Given the description of an element on the screen output the (x, y) to click on. 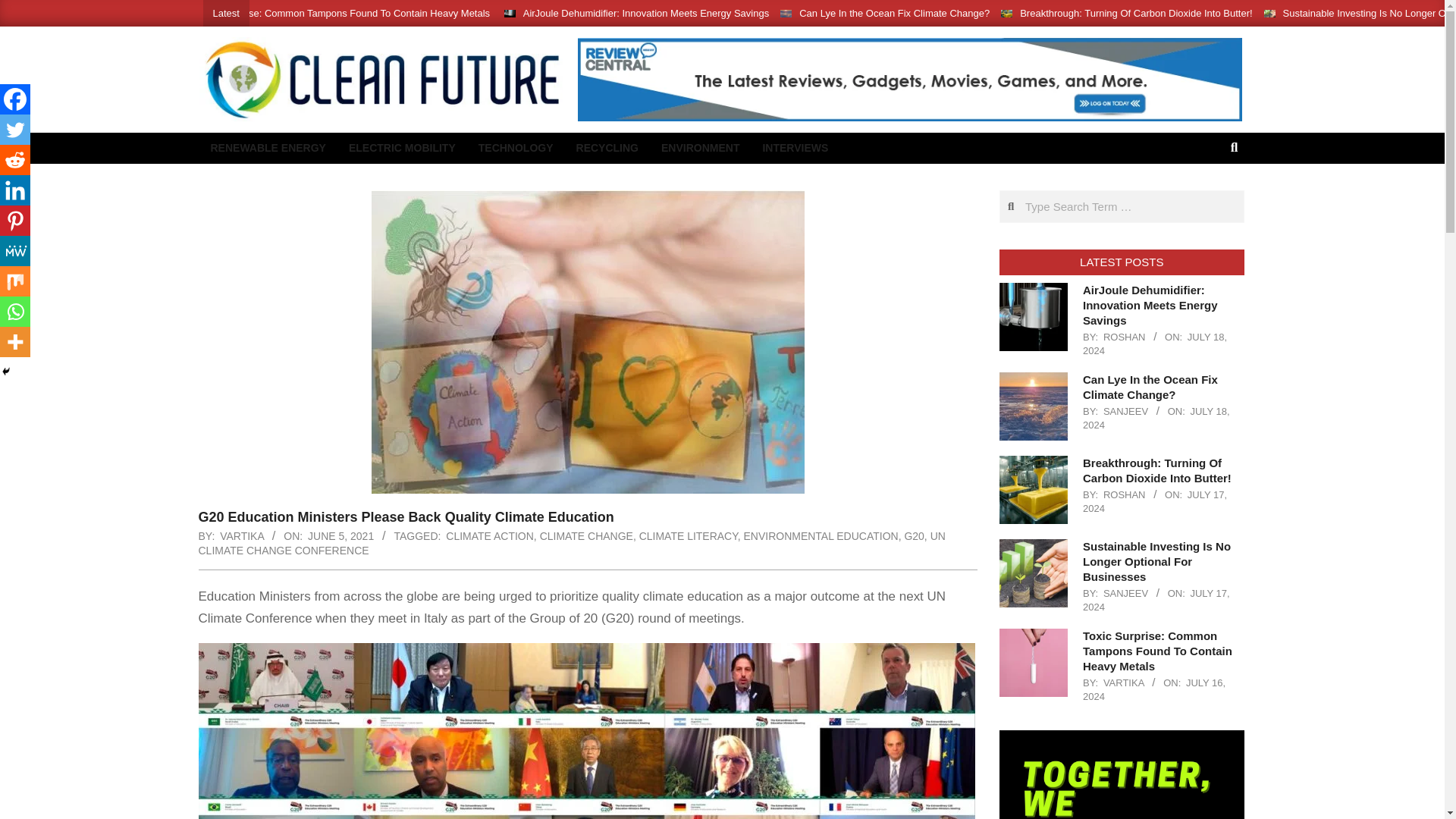
Twitter (15, 129)
TECHNOLOGY (515, 147)
Breakthrough: Turning Of Carbon Dioxide Into Butter! (1136, 12)
Posts by Sanjeev (1125, 410)
Can Lye In the Ocean Fix Climate Change? (894, 12)
Hide (5, 371)
Toxic Surprise: Common Tampons Found To Contain Heavy Metals (342, 12)
Thursday, July 18, 2024, 11:12 am (1156, 417)
ENVIRONMENTAL EDUCATION (821, 535)
Posts by Roshan (1124, 337)
Wednesday, July 17, 2024, 2:08 pm (1155, 501)
Posts by Vartika (241, 535)
Posts by Roshan (1124, 494)
AirJoule Dehumidifier: Innovation Meets Energy Savings (645, 12)
